Given the description of an element on the screen output the (x, y) to click on. 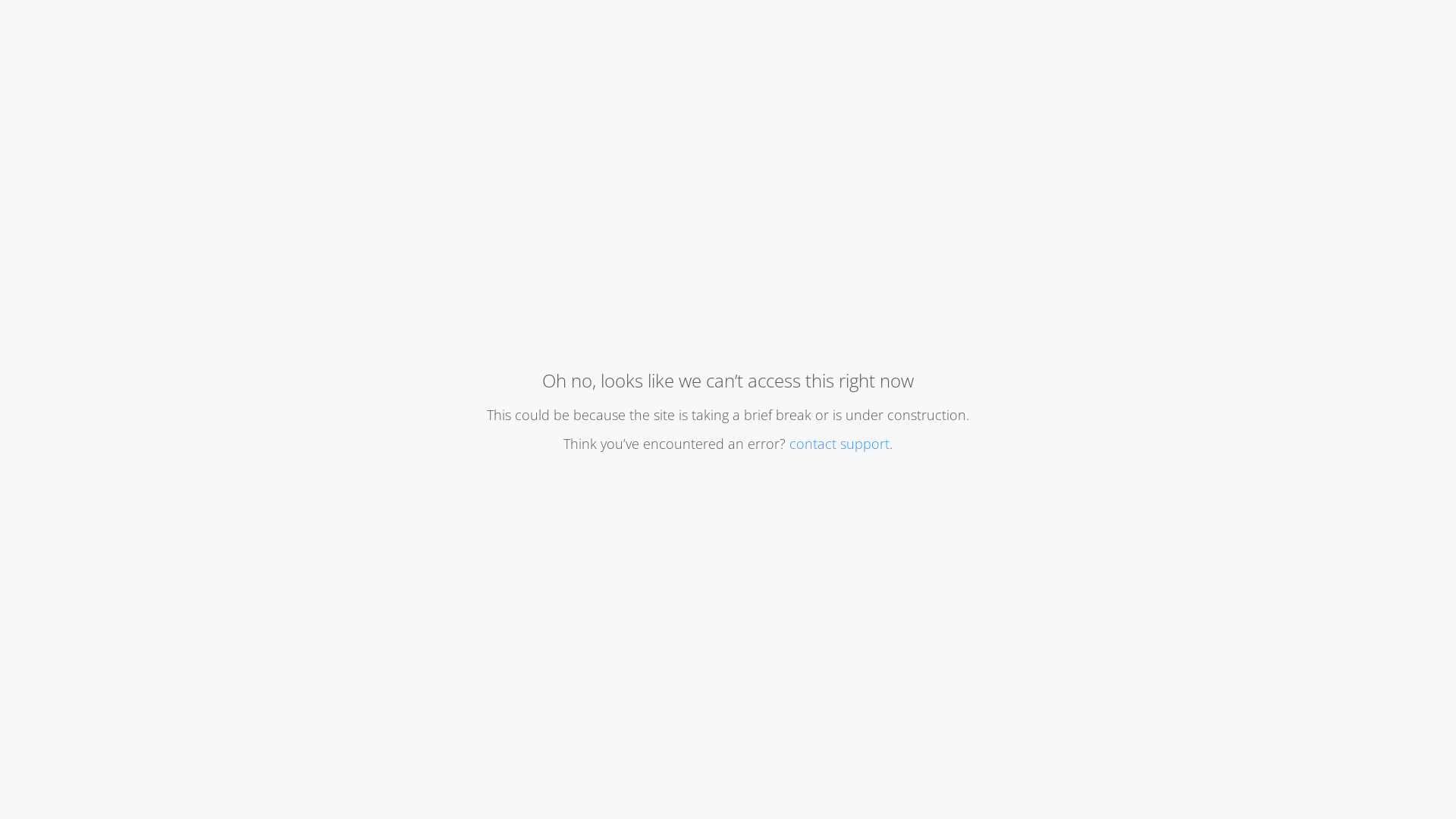
contact support Element type: text (839, 443)
